Given the description of an element on the screen output the (x, y) to click on. 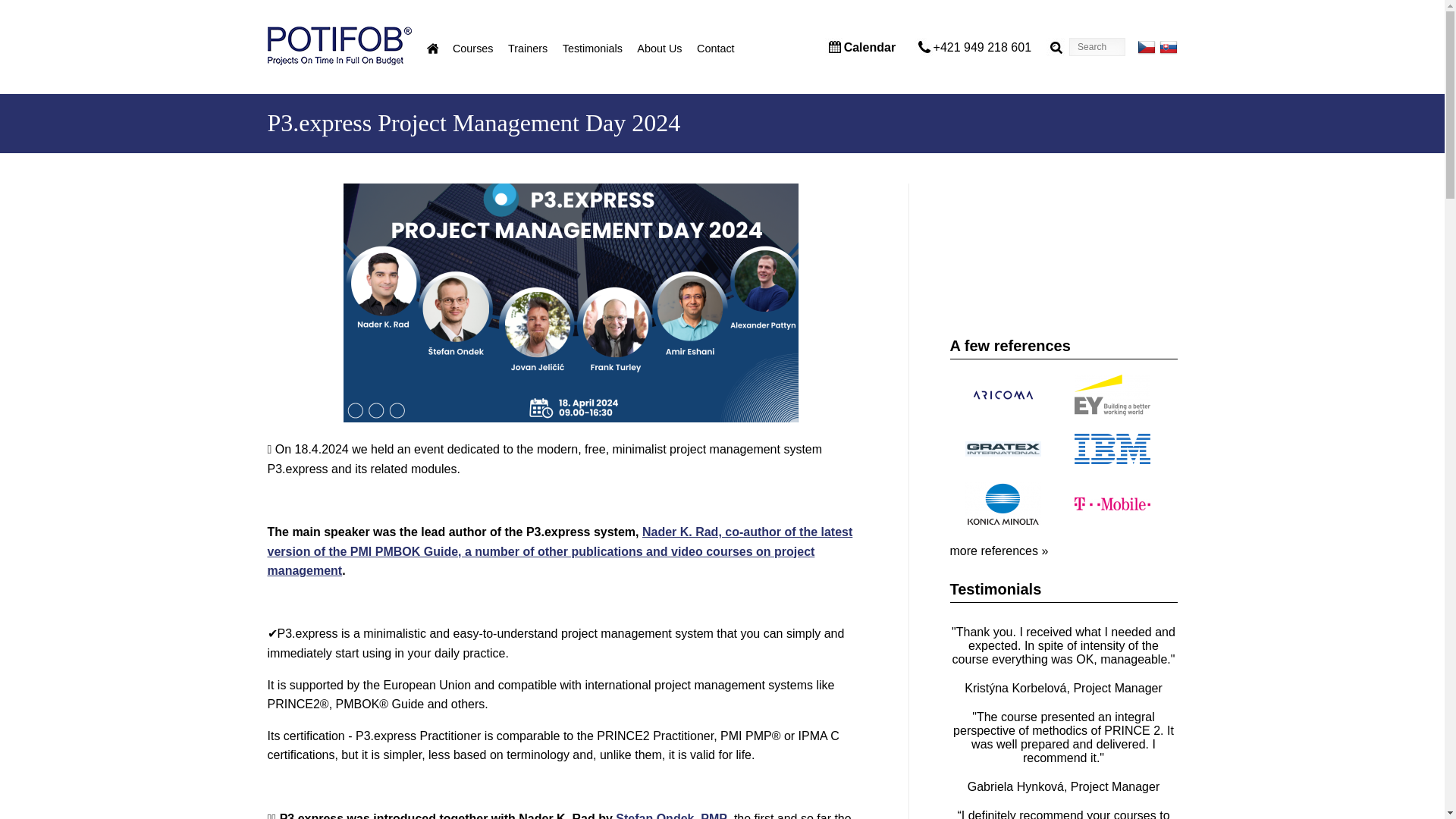
Slovak website (1167, 46)
Calendar (869, 47)
Testimonials (587, 47)
PRINCE2 and MSP courses and certification - ARICOMA (1002, 395)
About Us (653, 47)
Czech website (1146, 46)
Enter the terms you wish to search for. (1096, 46)
Home (432, 48)
